Given the description of an element on the screen output the (x, y) to click on. 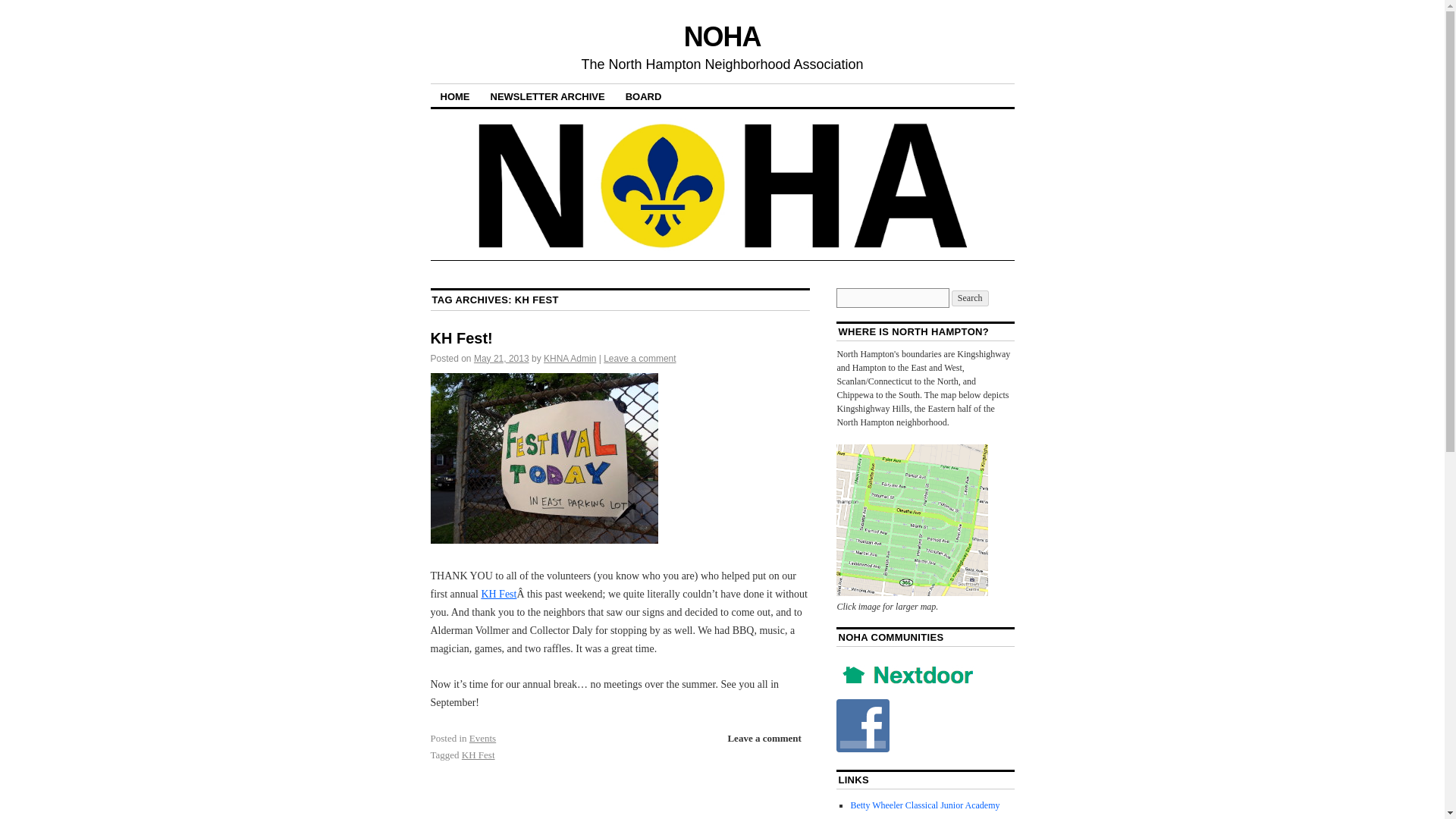
KH Fest (478, 754)
May 21, 2013 (501, 357)
BOARD (643, 96)
HOME (455, 96)
1:00 pm (501, 357)
View all posts by KHNA Admin (569, 357)
Events (482, 737)
Betty Wheeler Classical Junior Academy (924, 805)
Festival (498, 593)
Leave a comment (763, 737)
